Given the description of an element on the screen output the (x, y) to click on. 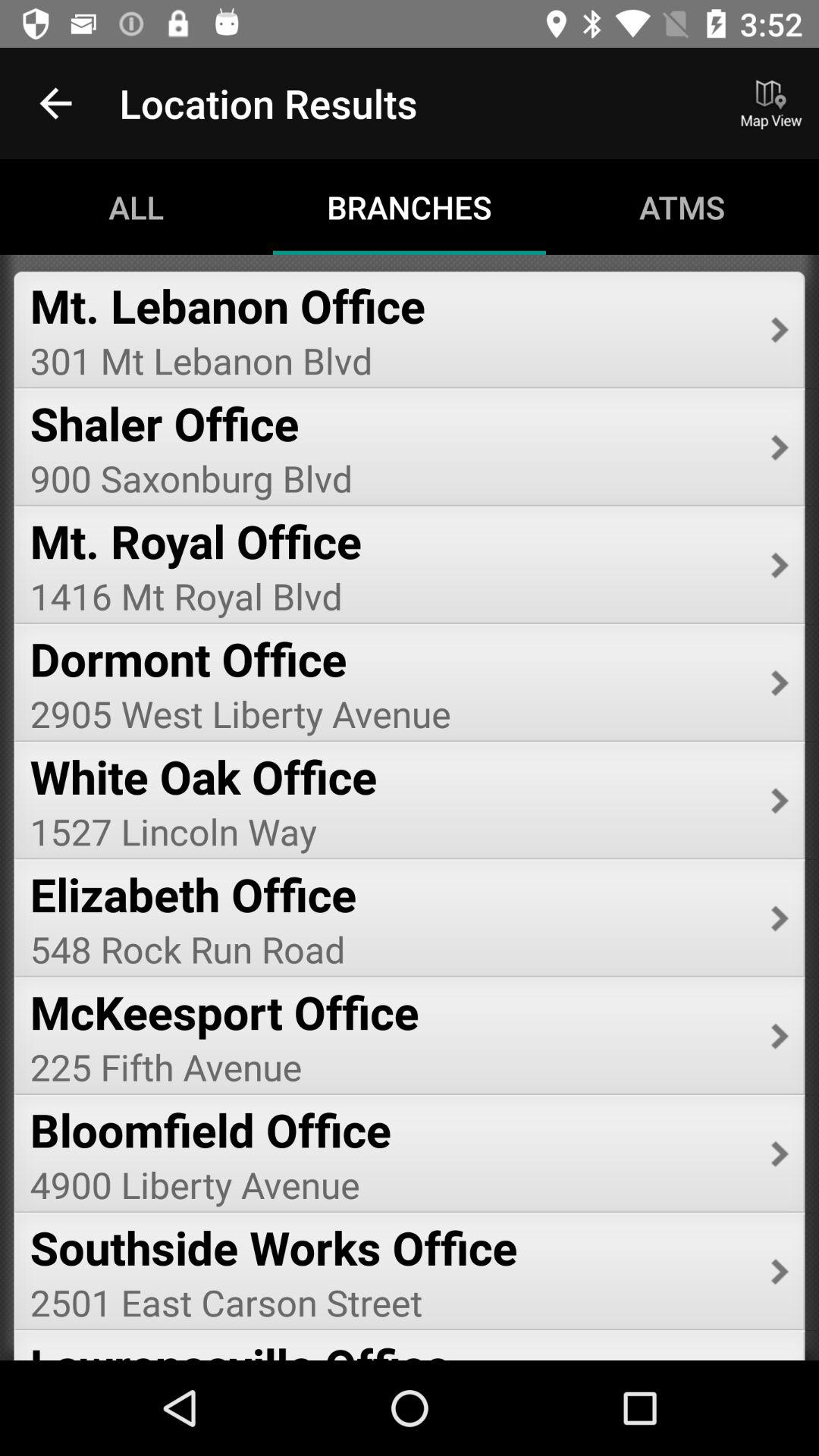
select the icon beside the dormont office (779, 682)
select the arrow icon next to southside works office (779, 1270)
go to map view on top right corner (771, 103)
